Given the description of an element on the screen output the (x, y) to click on. 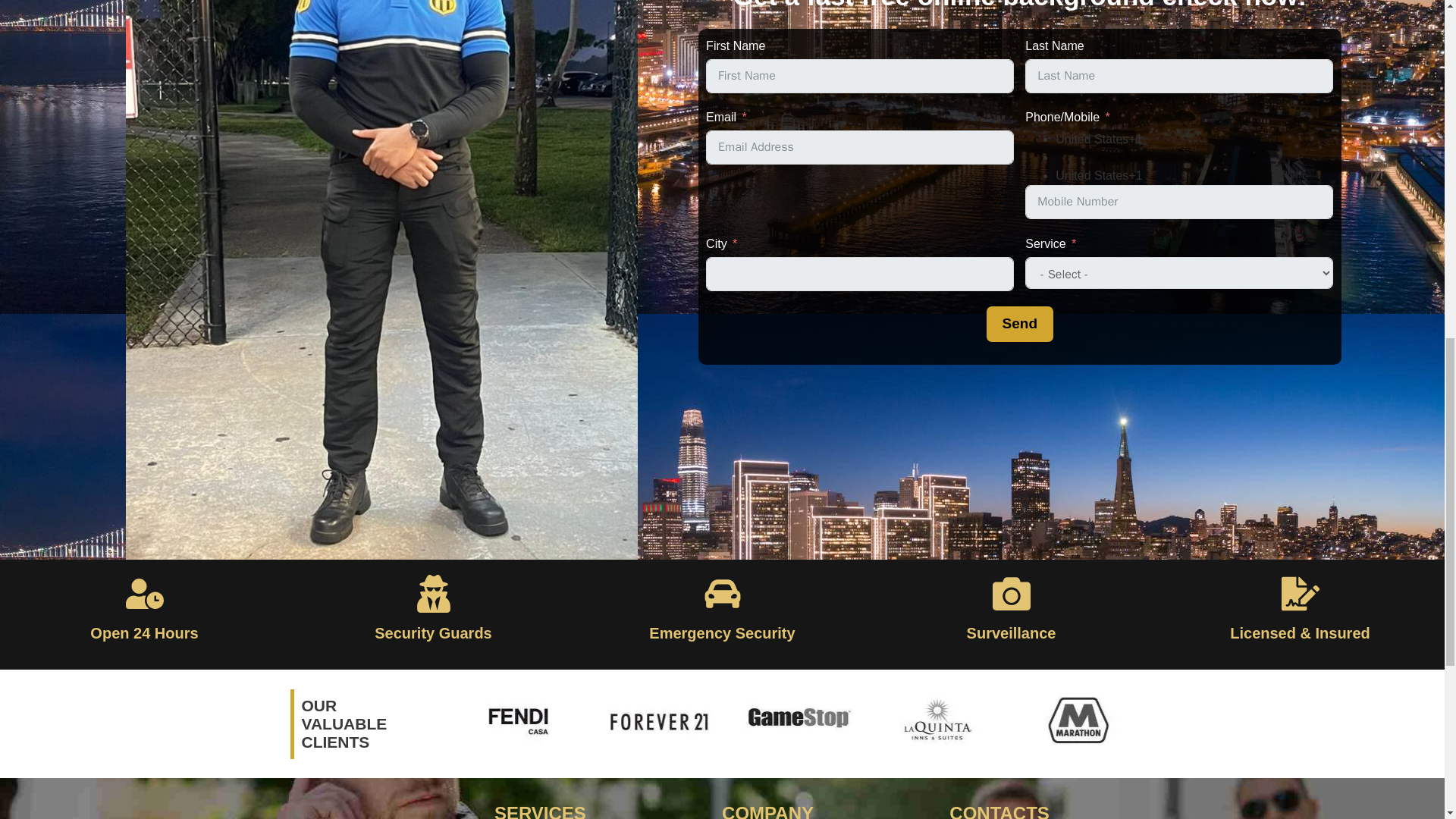
fastguardservice logo (380, 811)
